Given the description of an element on the screen output the (x, y) to click on. 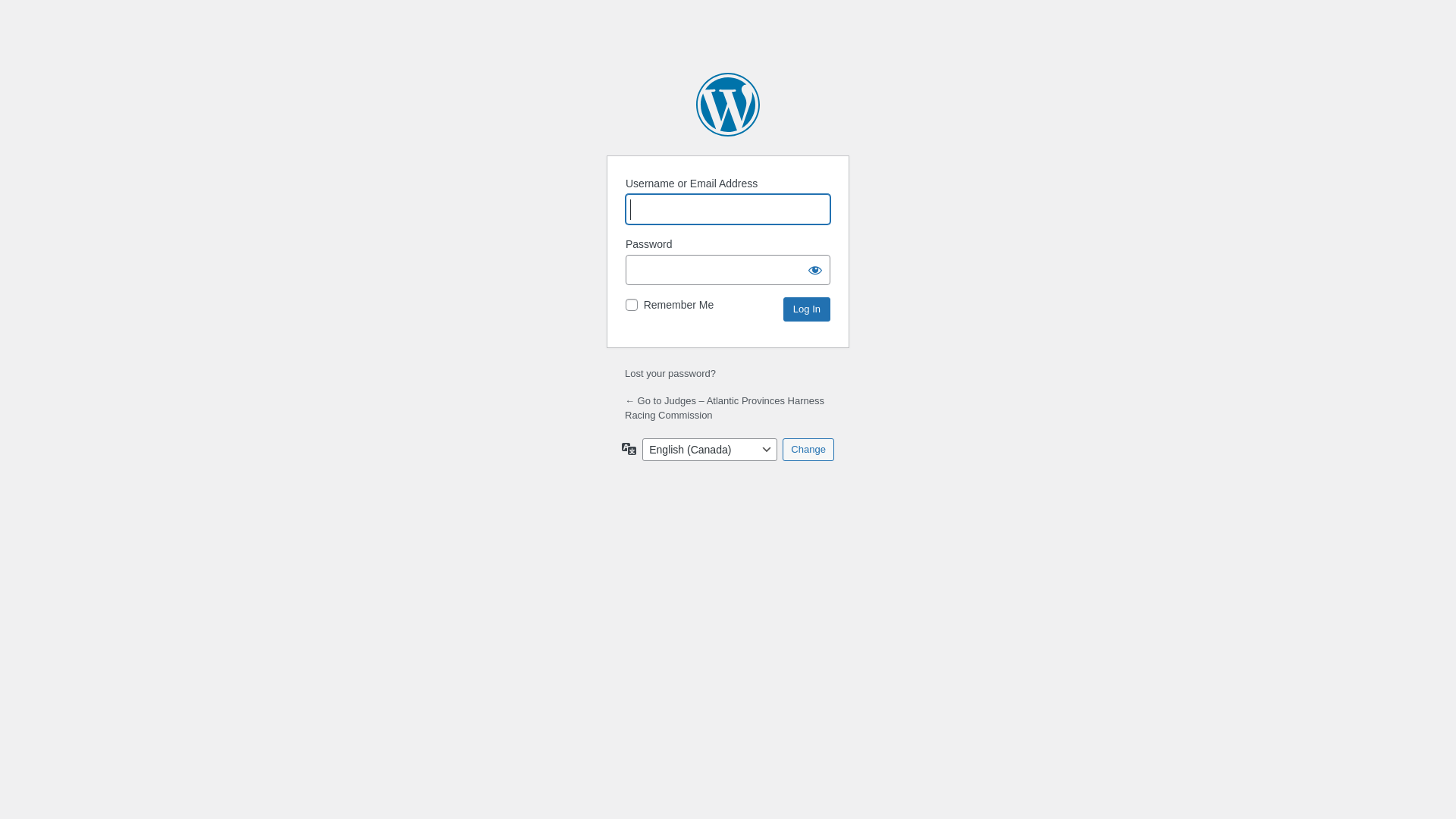
Log In Element type: text (806, 309)
Lost your password? Element type: text (669, 373)
Change Element type: text (808, 449)
Powered by WordPress Element type: text (727, 104)
